Given the description of an element on the screen output the (x, y) to click on. 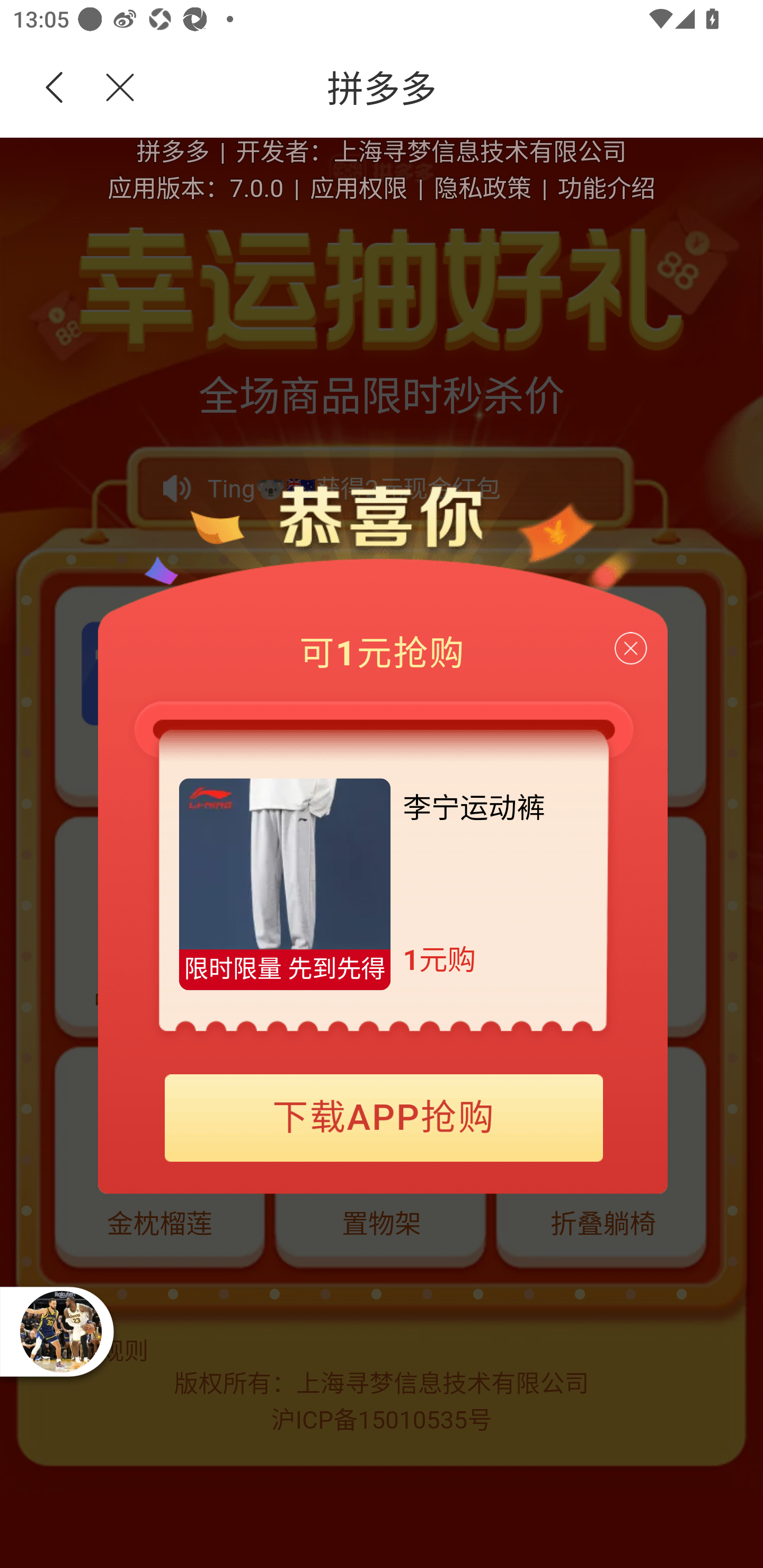
 (109, 87)
拼多多 (451, 87)
 返回 (54, 87)
播放器 (60, 1331)
